Given the description of an element on the screen output the (x, y) to click on. 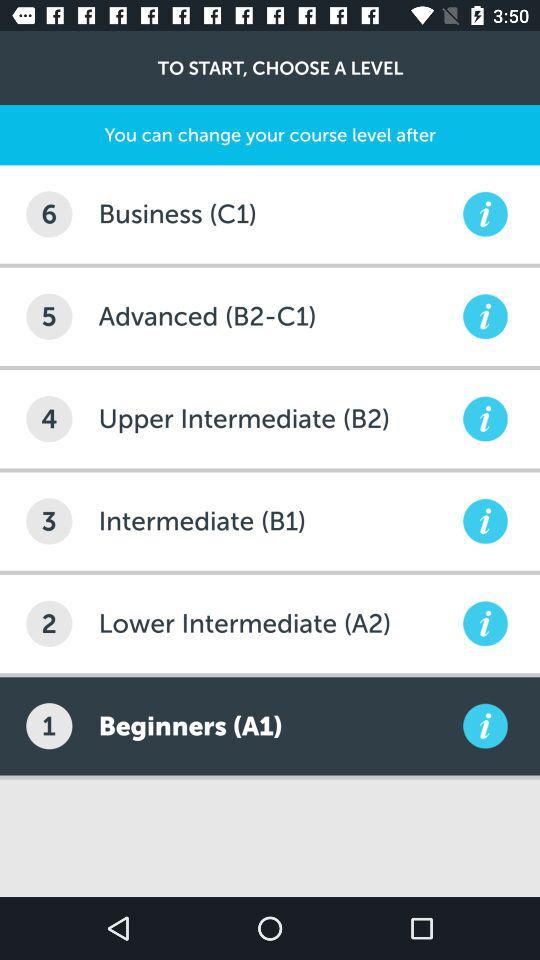
turn on the icon below intermediate (b1) item (277, 623)
